Given the description of an element on the screen output the (x, y) to click on. 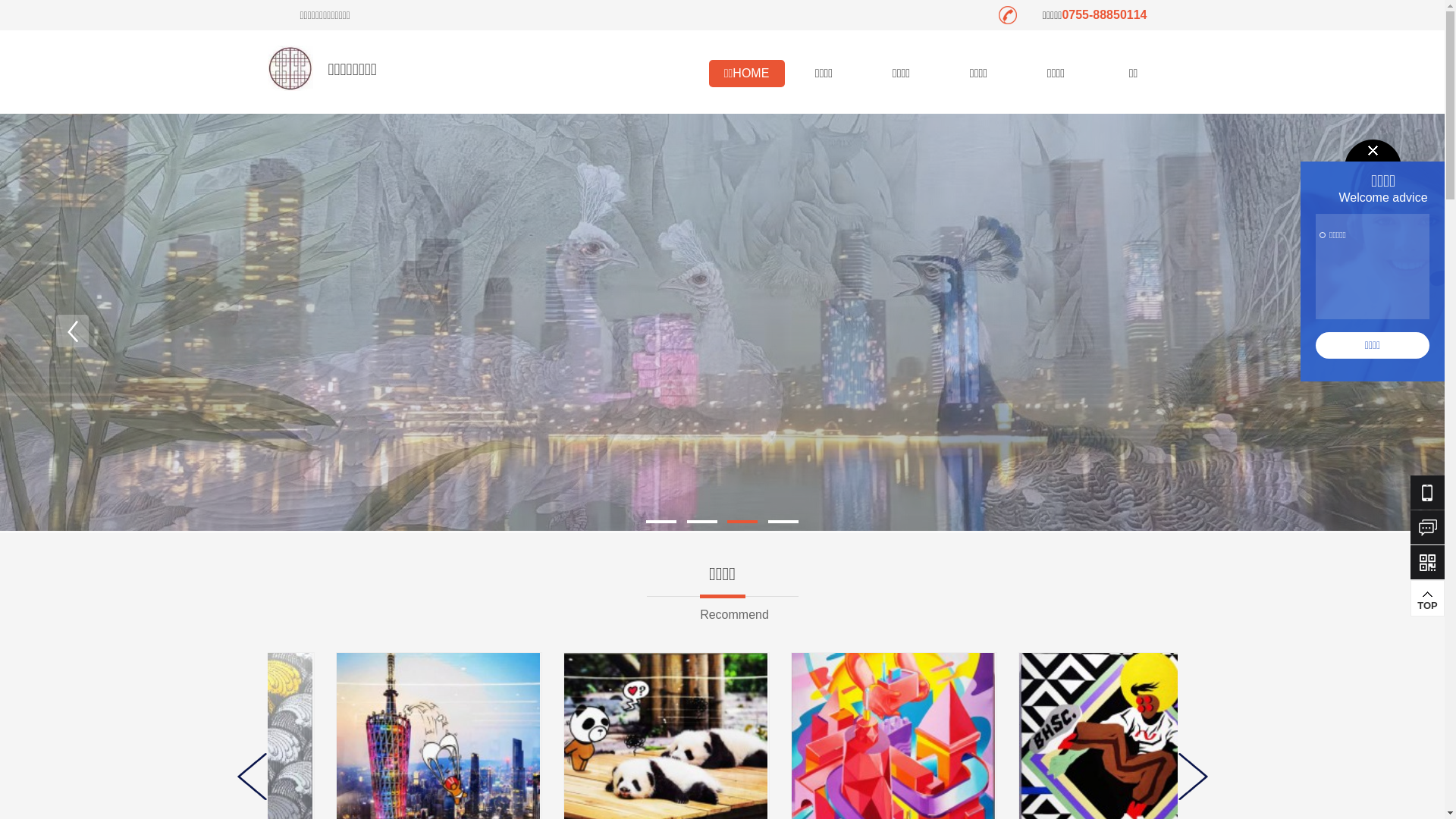
TOP Element type: text (1427, 597)
